Given the description of an element on the screen output the (x, y) to click on. 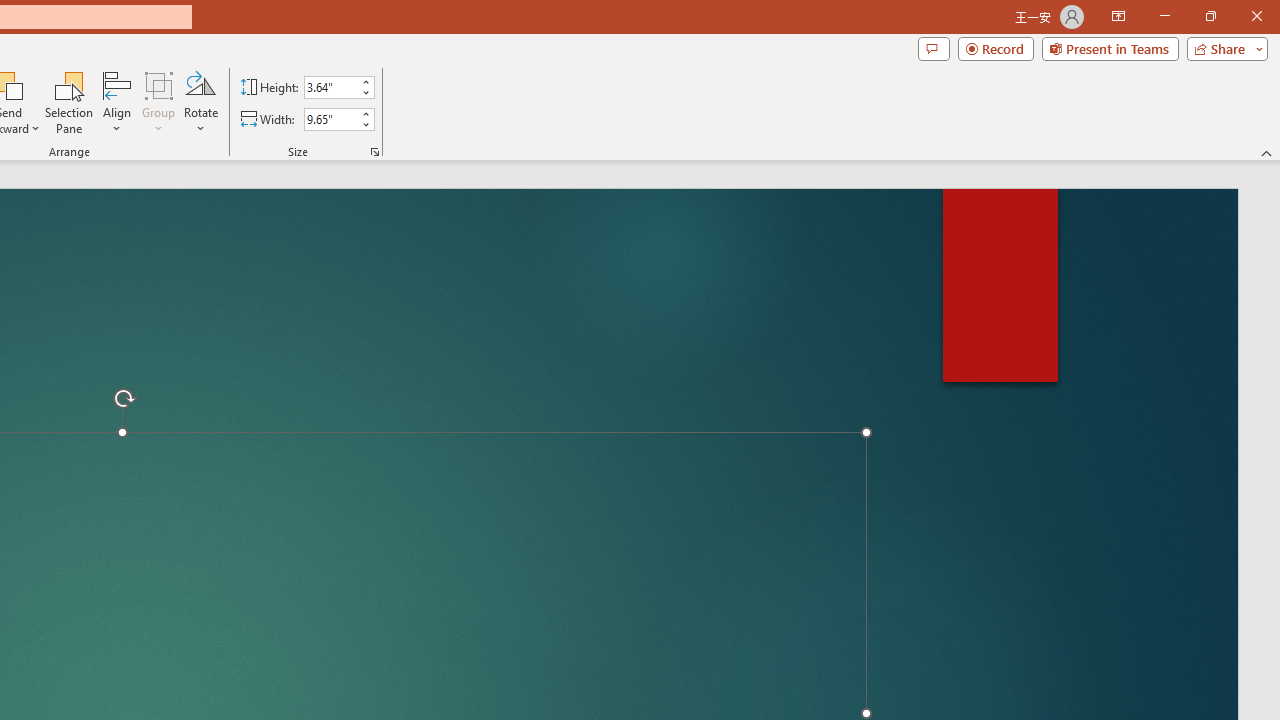
Align (117, 102)
Shape Width (330, 119)
Group (159, 102)
Shape Height (330, 87)
Selection Pane... (69, 102)
